Given the description of an element on the screen output the (x, y) to click on. 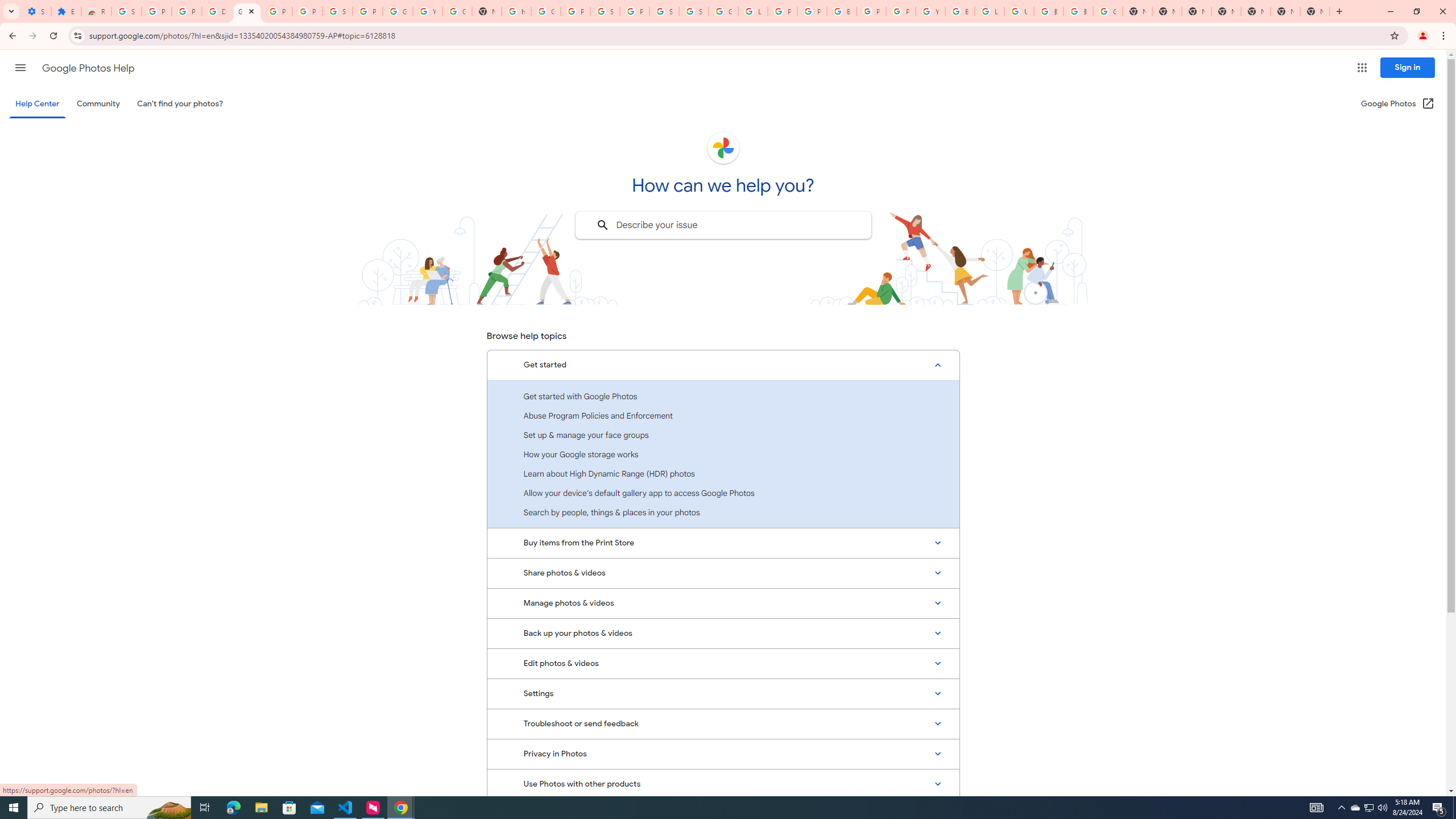
Google Photos (Open in a new window) (1397, 103)
Sign in - Google Accounts (693, 11)
Privacy Help Center - Policies Help (811, 11)
